Given the description of an element on the screen output the (x, y) to click on. 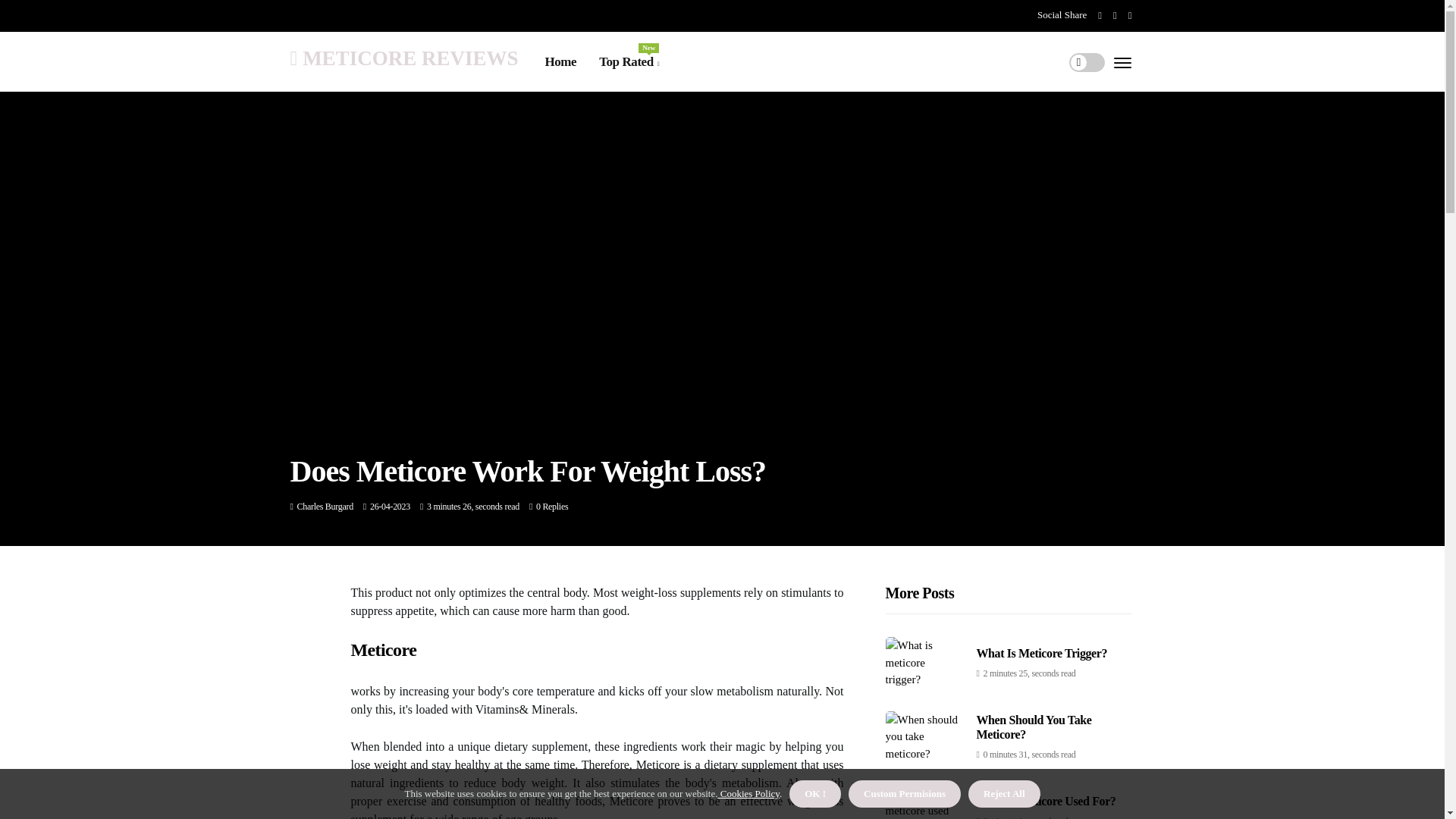
What Is Meticore Used For? (1046, 800)
What Is Meticore Trigger? (1042, 653)
METICORE REVIEWS (403, 58)
Posts by Charles Burgard (628, 61)
0 Replies (325, 506)
Charles Burgard (551, 506)
When Should You Take Meticore? (325, 506)
